Given the description of an element on the screen output the (x, y) to click on. 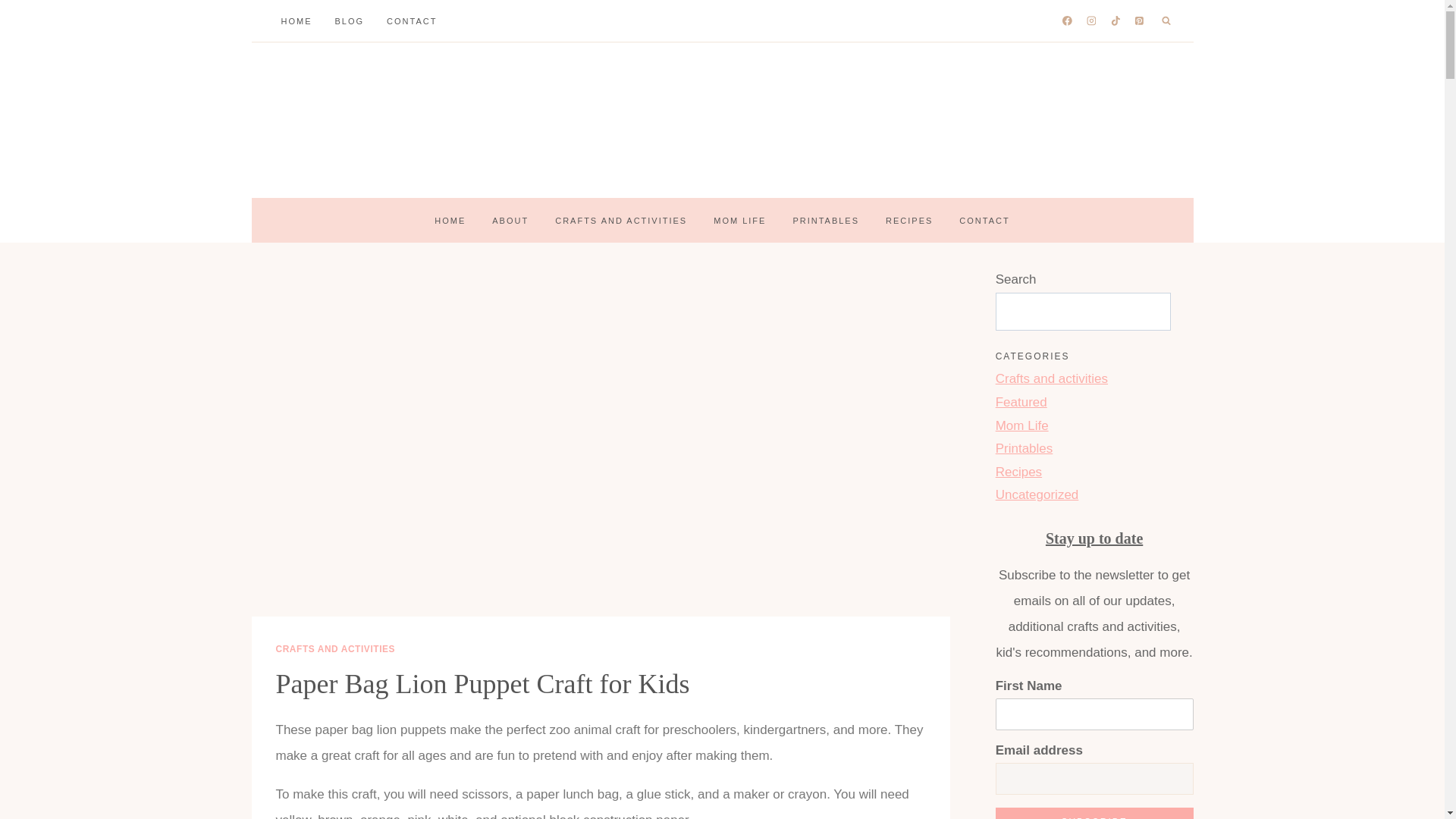
CONTACT (411, 20)
ABOUT (510, 220)
RECIPES (909, 220)
CRAFTS AND ACTIVITIES (620, 220)
HOME (450, 220)
Subscribe (1094, 813)
BLOG (349, 20)
CONTACT (984, 220)
MOM LIFE (739, 220)
PRINTABLES (825, 220)
